Given the description of an element on the screen output the (x, y) to click on. 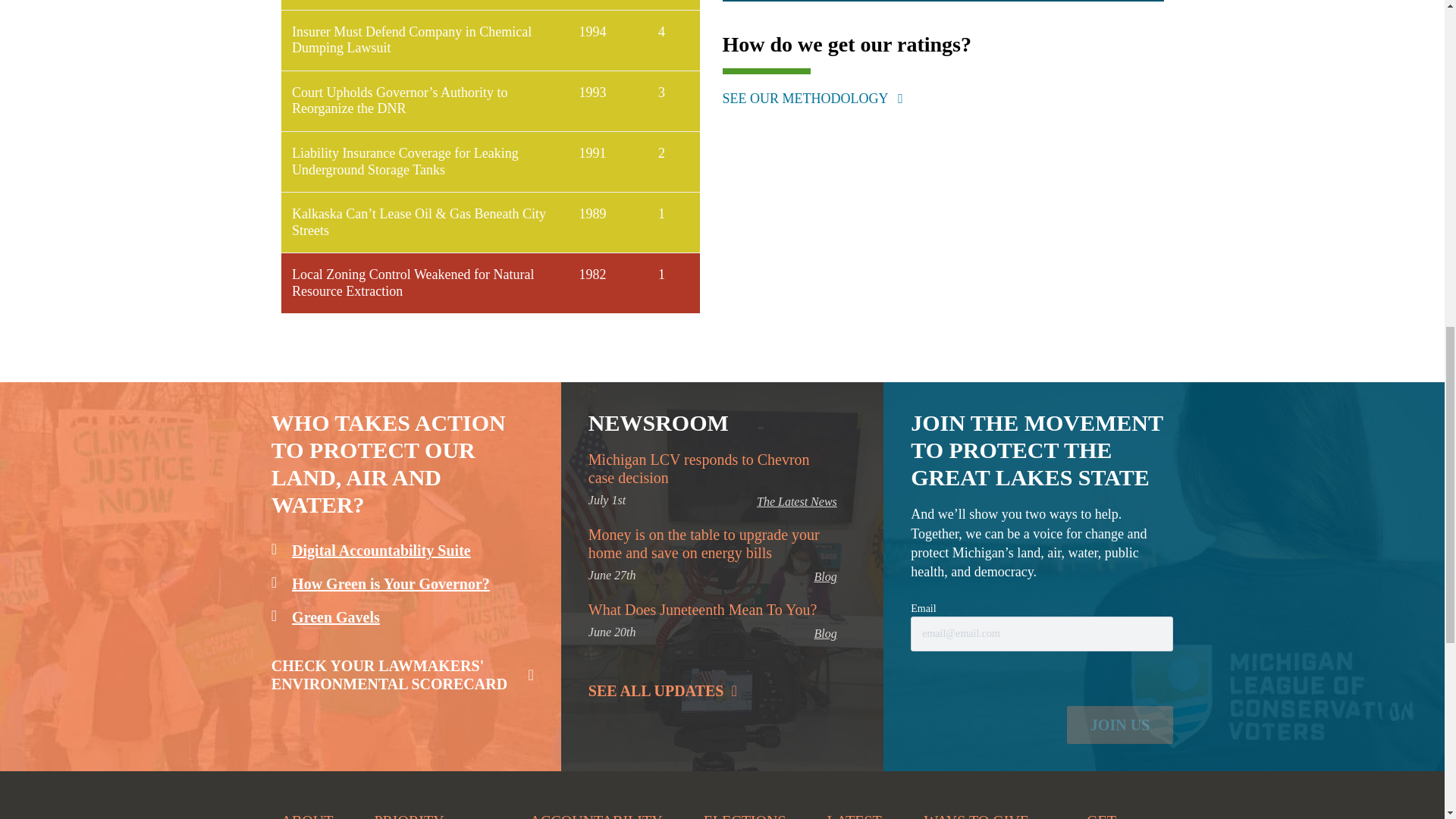
JOIN US (1120, 724)
